Given the description of an element on the screen output the (x, y) to click on. 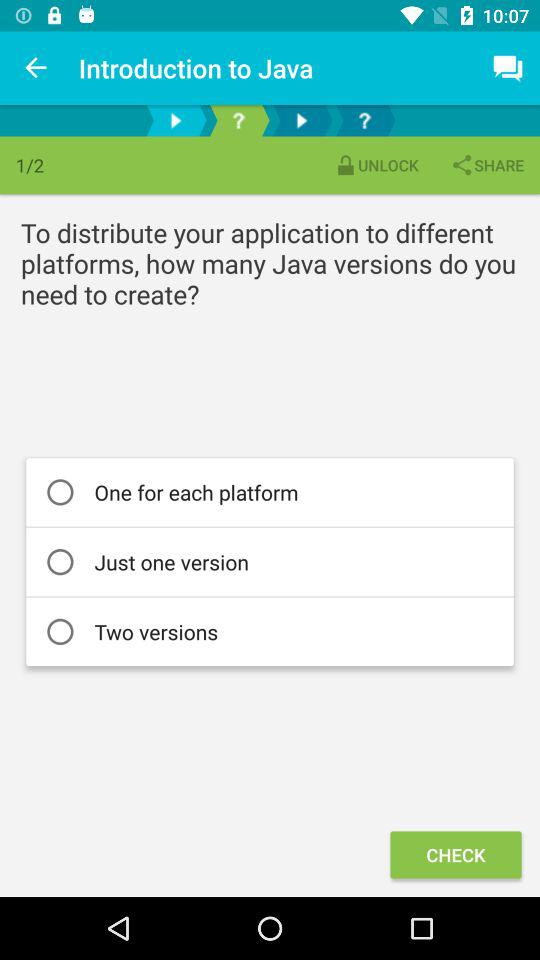
choose icon next to share item (375, 164)
